Given the description of an element on the screen output the (x, y) to click on. 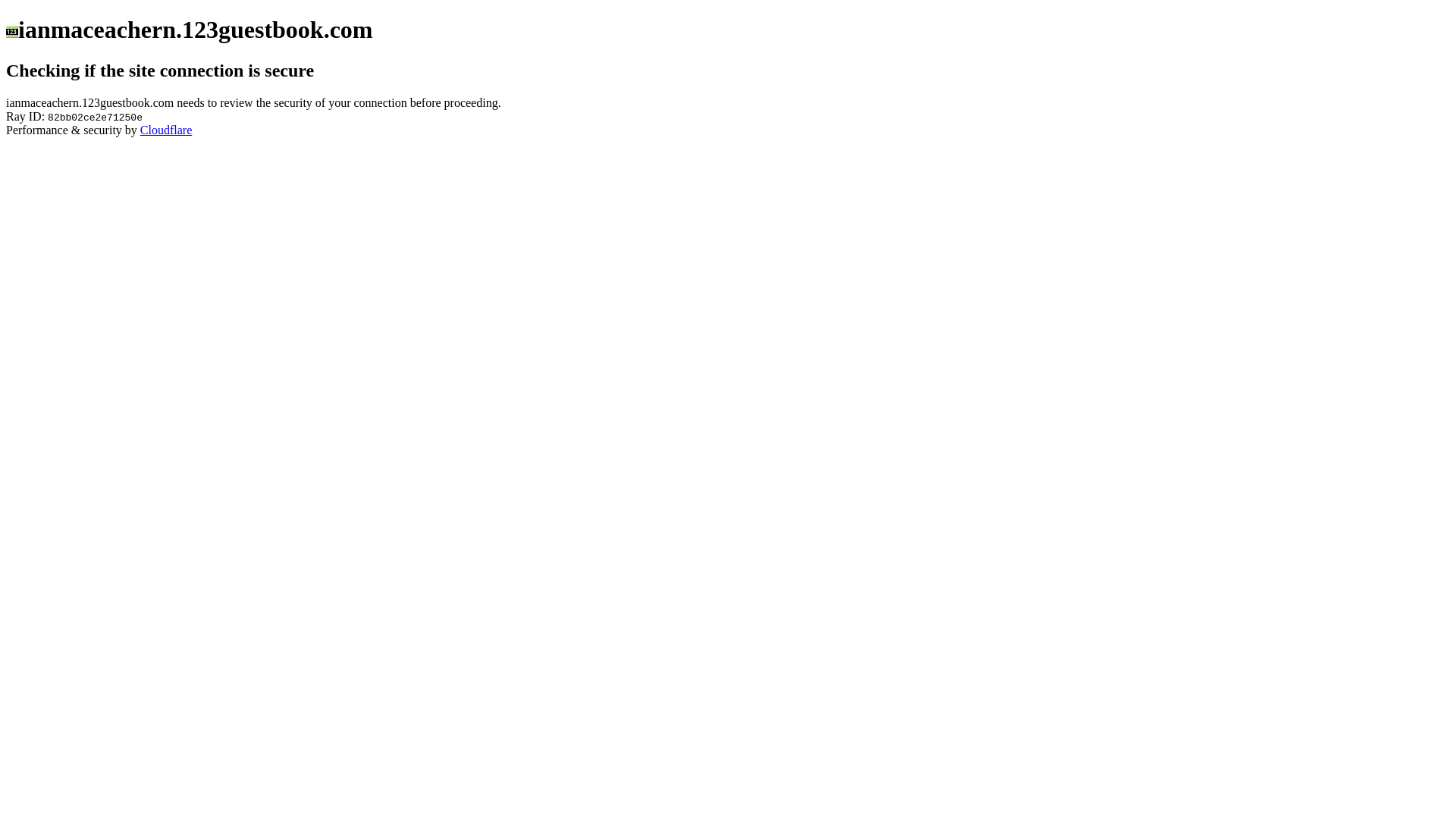
Cloudflare Element type: text (165, 129)
